Given the description of an element on the screen output the (x, y) to click on. 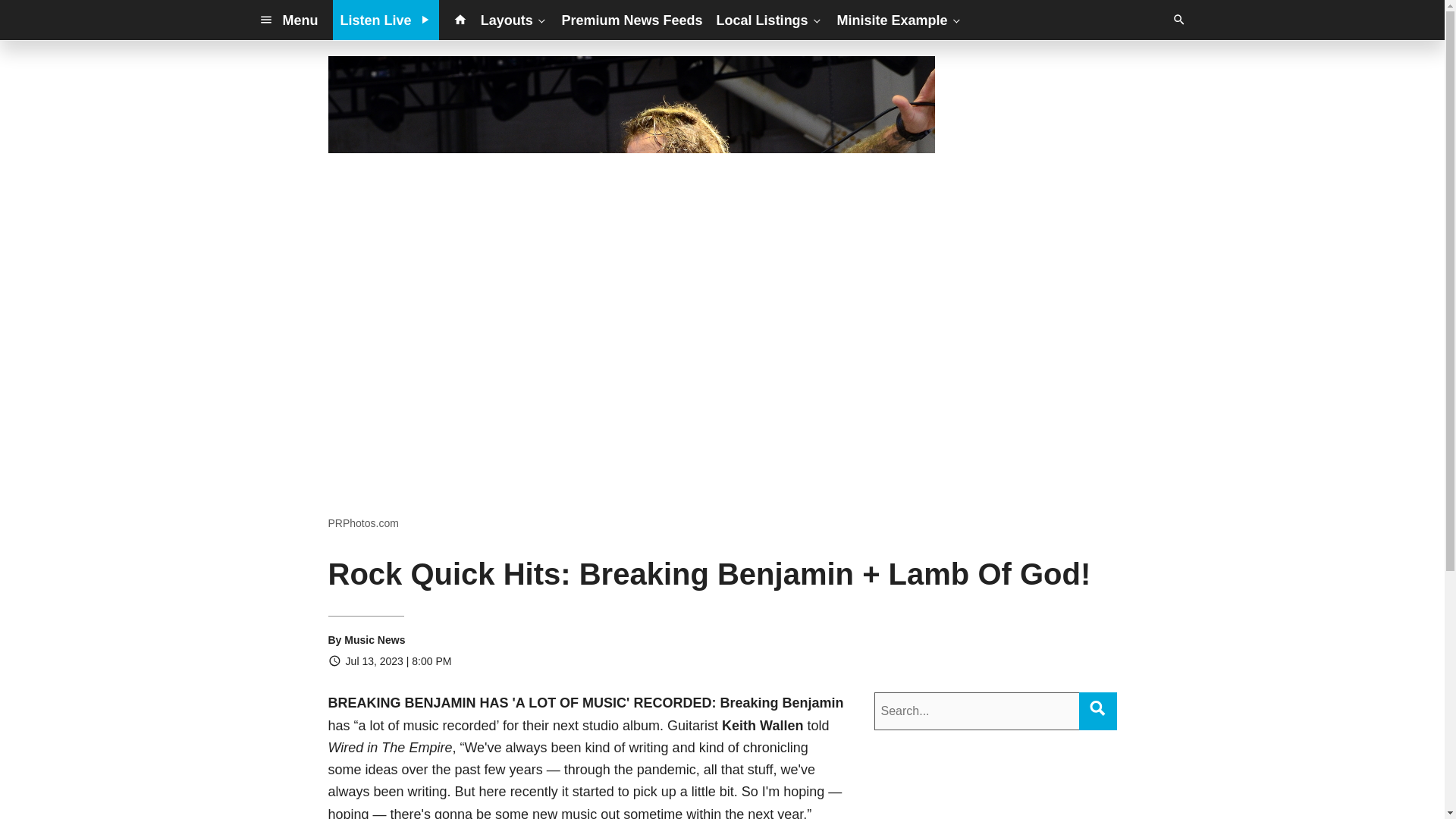
Listen Live (386, 20)
Minisite Example (899, 19)
Premium News Feeds (632, 19)
Local Listings (769, 19)
Menu (287, 19)
Search (1097, 708)
Layouts (514, 19)
